Given the description of an element on the screen output the (x, y) to click on. 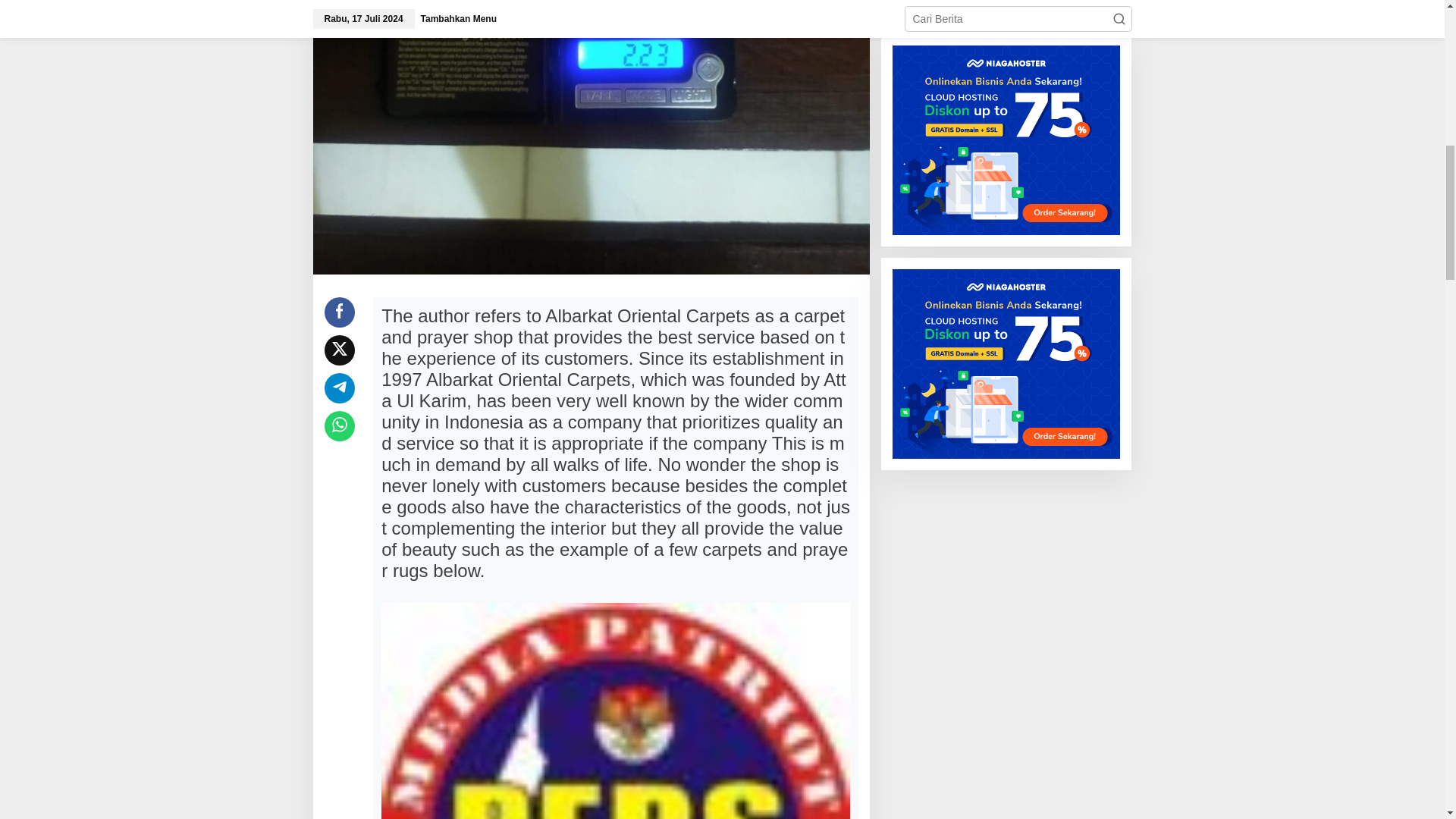
Tweet ini (339, 349)
Telegram Share (339, 388)
Sebar ini (339, 312)
Whatsapp (339, 426)
